Given the description of an element on the screen output the (x, y) to click on. 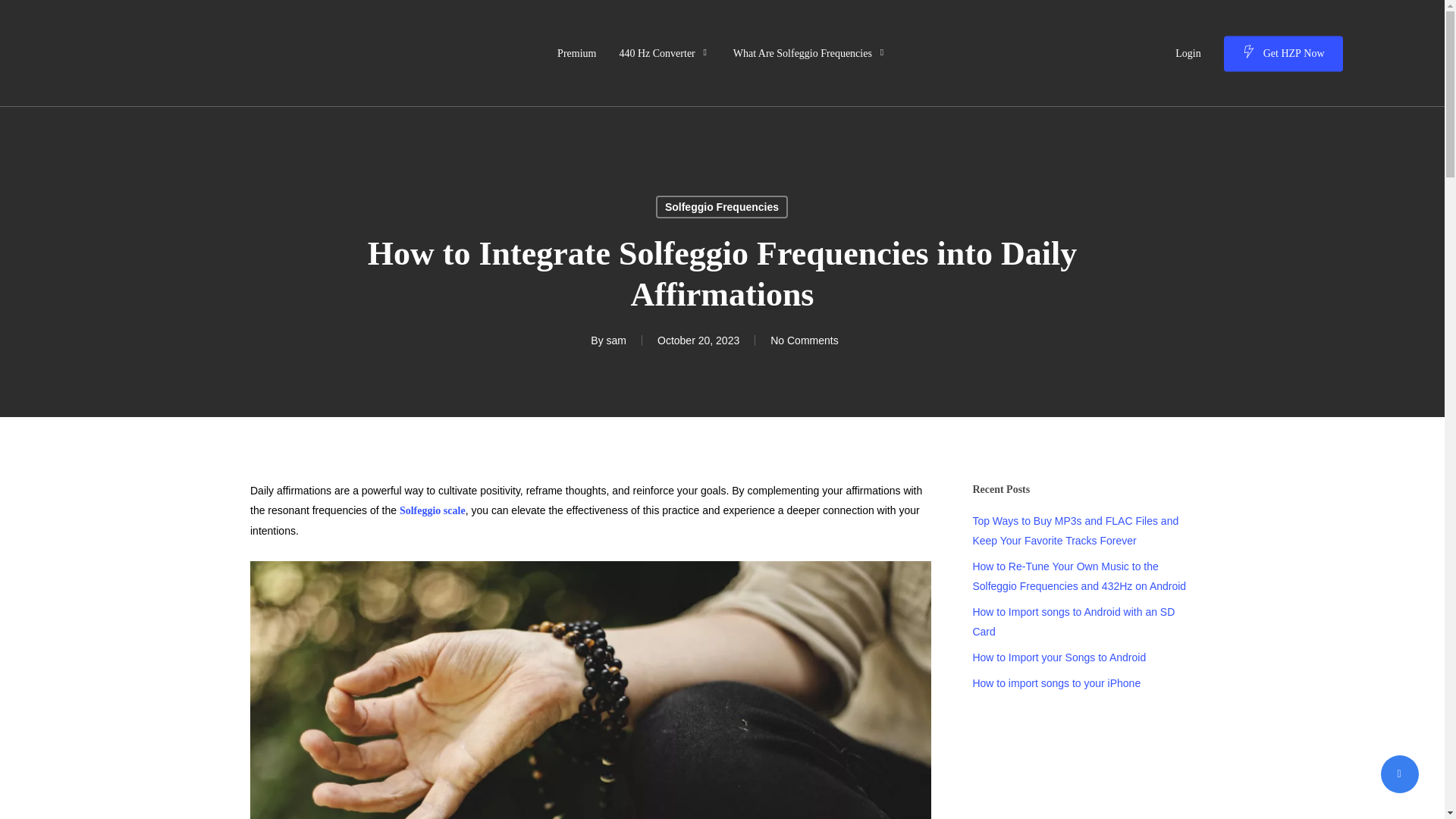
No Comments (804, 340)
Login (1186, 52)
Premium (576, 52)
What Are Solfeggio Frequencies (809, 52)
Solfeggio Frequencies (721, 206)
Get HZP Now (1283, 53)
sam (616, 340)
Posts by sam (616, 340)
Solfeggio scale (431, 510)
440 Hz Converter (664, 52)
